Given the description of an element on the screen output the (x, y) to click on. 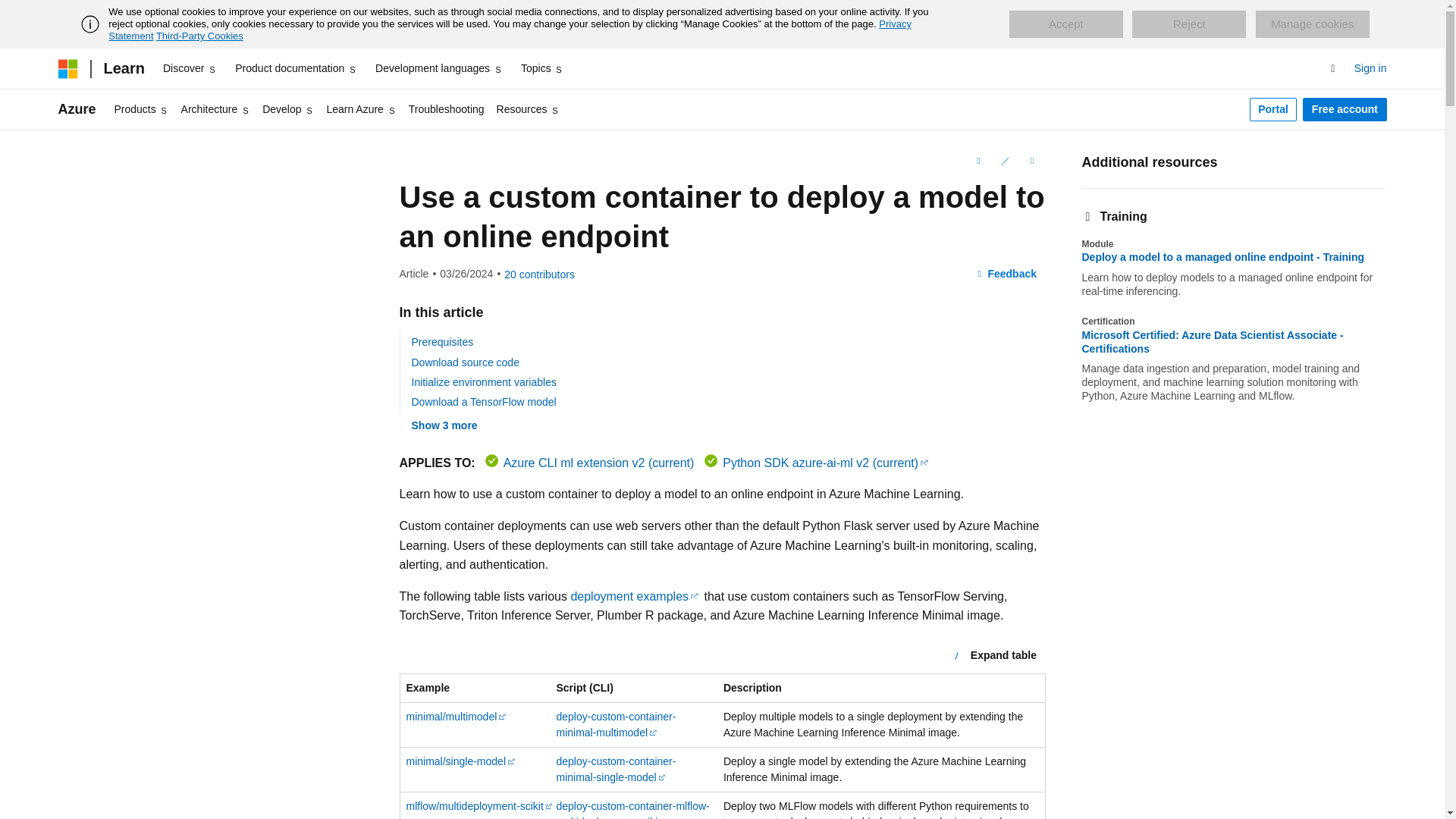
Manage cookies (1312, 23)
Skip to main content (11, 11)
Edit This Document (1004, 160)
Azure (77, 109)
Development languages (438, 68)
More actions (1031, 160)
Discover (189, 68)
Accept (1065, 23)
Sign in (1370, 68)
Products (140, 109)
Product documentation (295, 68)
Topics (542, 68)
Reject (1189, 23)
View all contributors (539, 274)
Learn (123, 68)
